Given the description of an element on the screen output the (x, y) to click on. 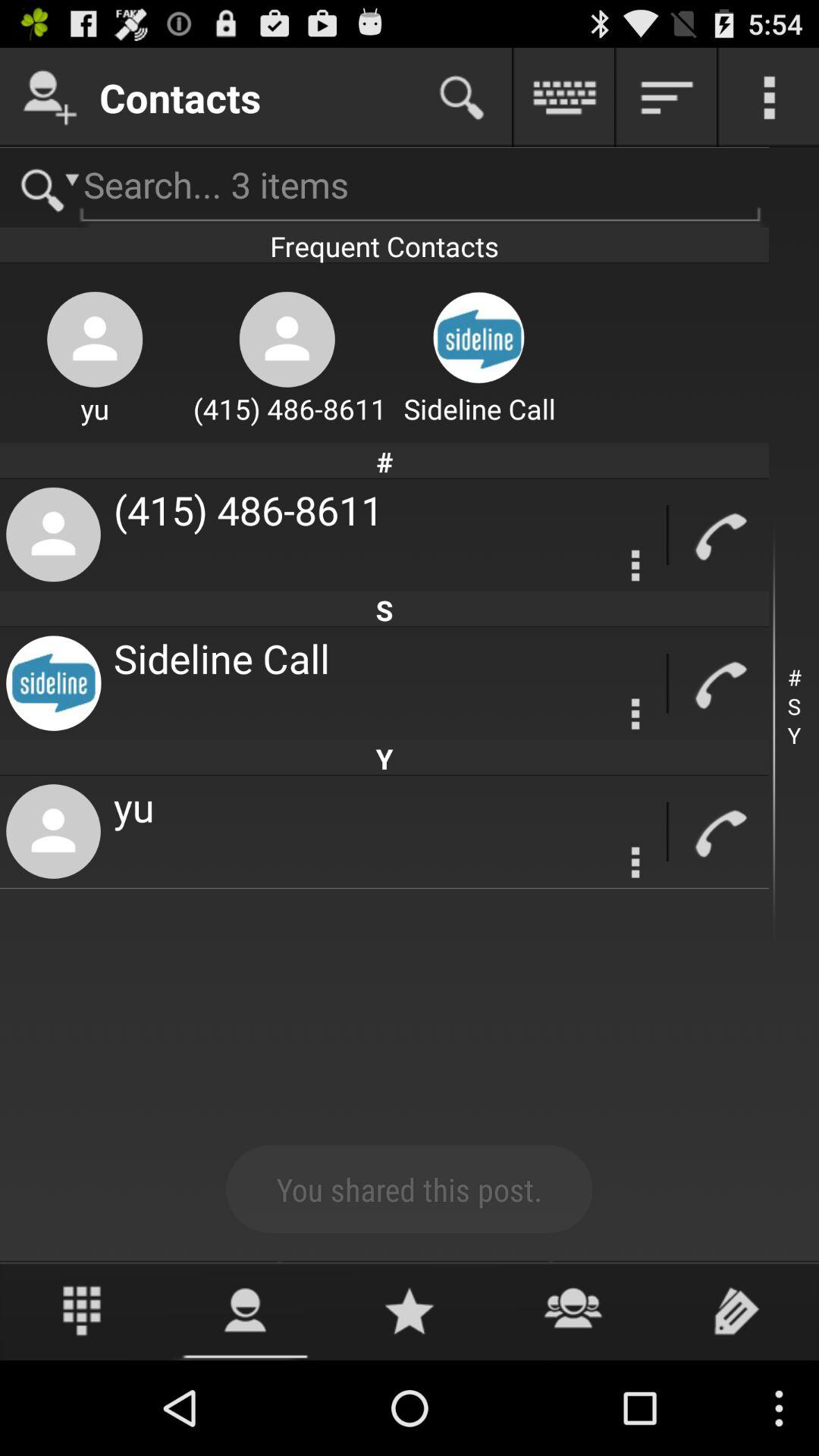
search items (43, 187)
